Given the description of an element on the screen output the (x, y) to click on. 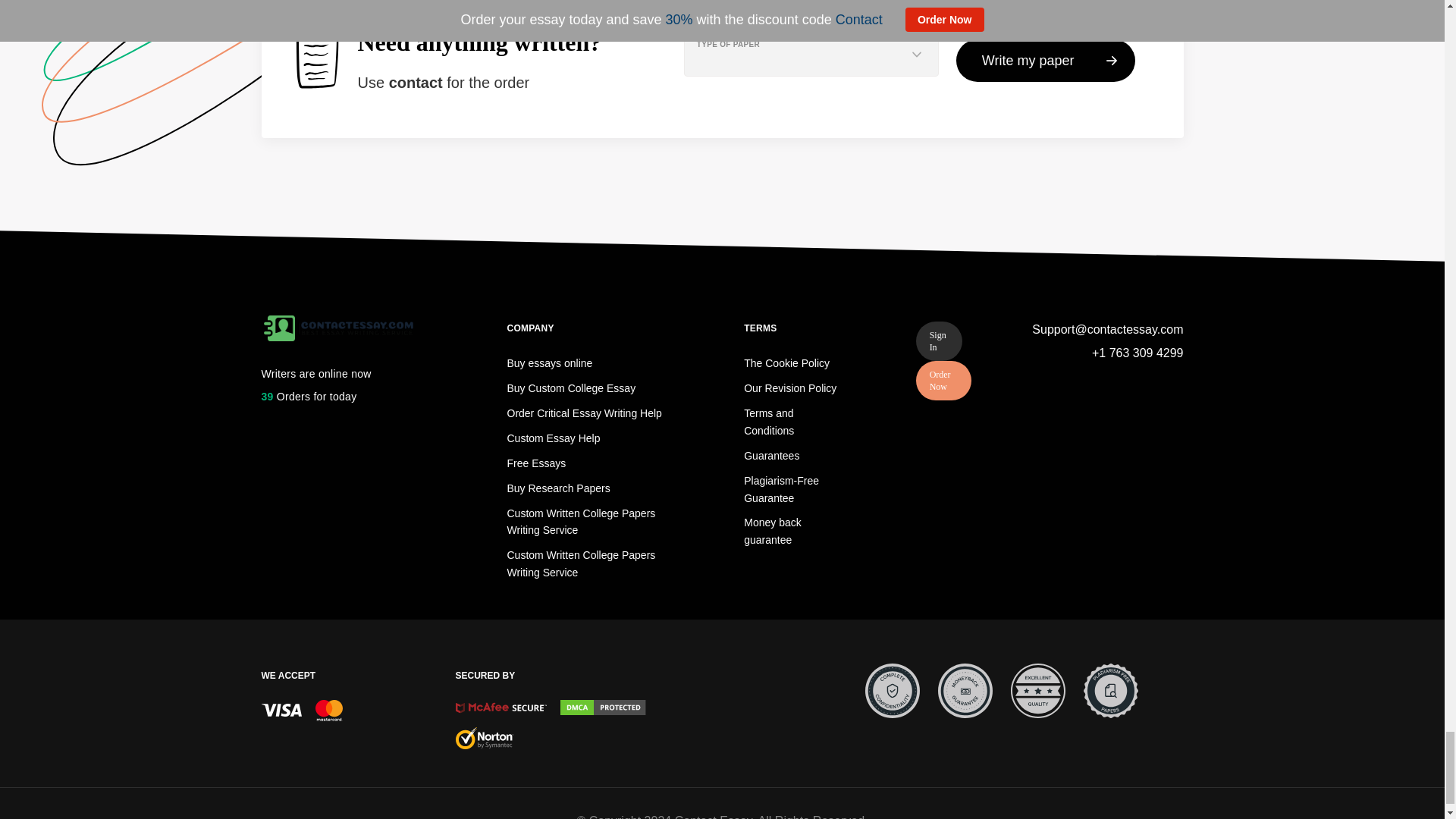
The Cookie Policy (786, 363)
Write my paper (1045, 60)
Sign In (938, 341)
Custom Written College Papers Writing Service (580, 521)
Terms and Conditions (768, 421)
Guarantees (771, 455)
Order Now (943, 380)
Money back guarantee (772, 531)
Custom Essay Help (552, 438)
Write my paper (1045, 60)
